Given the description of an element on the screen output the (x, y) to click on. 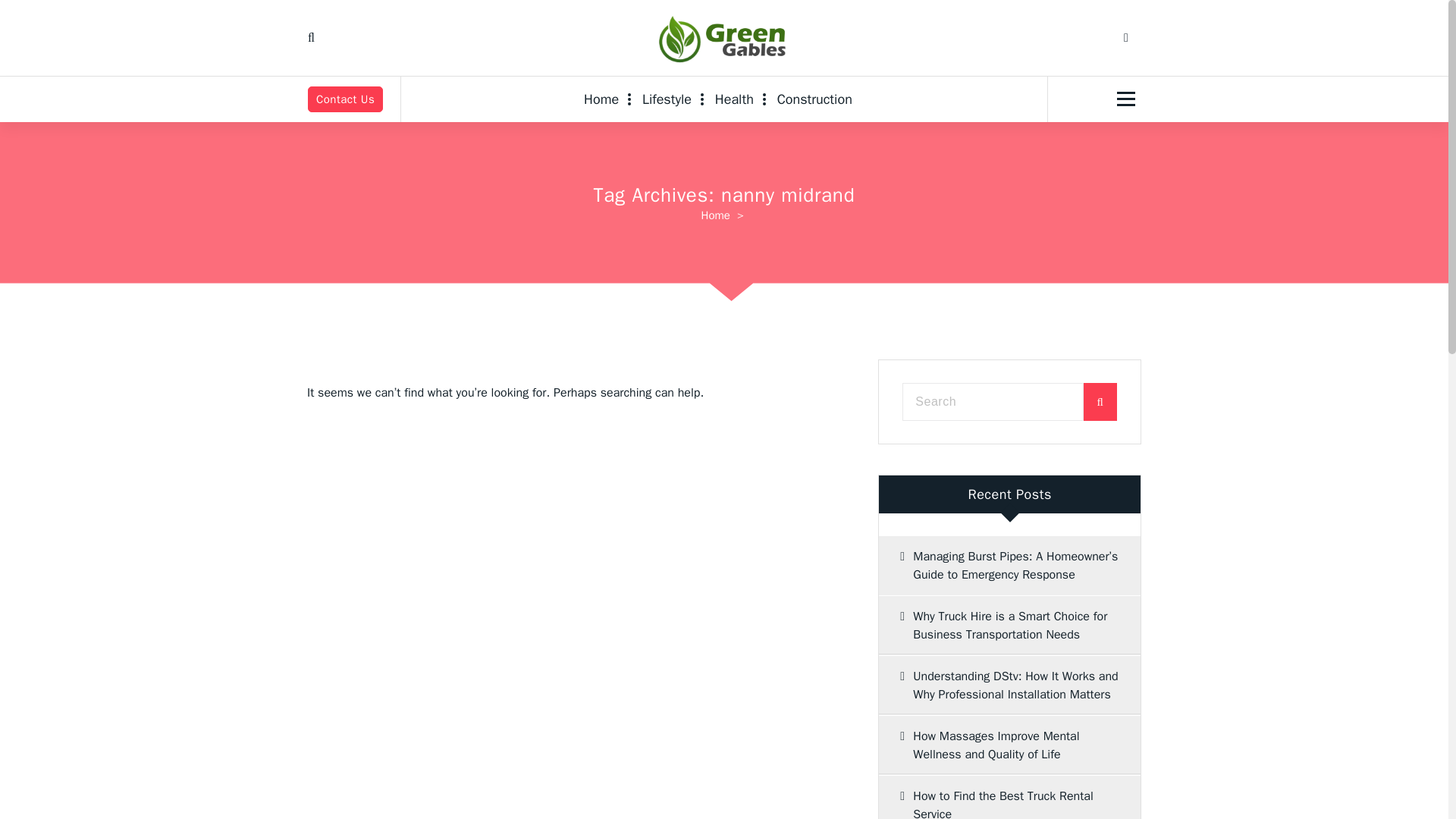
Home (606, 99)
Construction (814, 99)
How Massages Improve Mental Wellness and Quality of Life (1009, 744)
Lifestyle (666, 99)
Home (715, 214)
Health (734, 99)
Contact Us (344, 99)
Construction (814, 99)
Health (734, 99)
Lifestyle (666, 99)
Home (606, 99)
How to Find the Best Truck Rental Service (1009, 797)
